Given the description of an element on the screen output the (x, y) to click on. 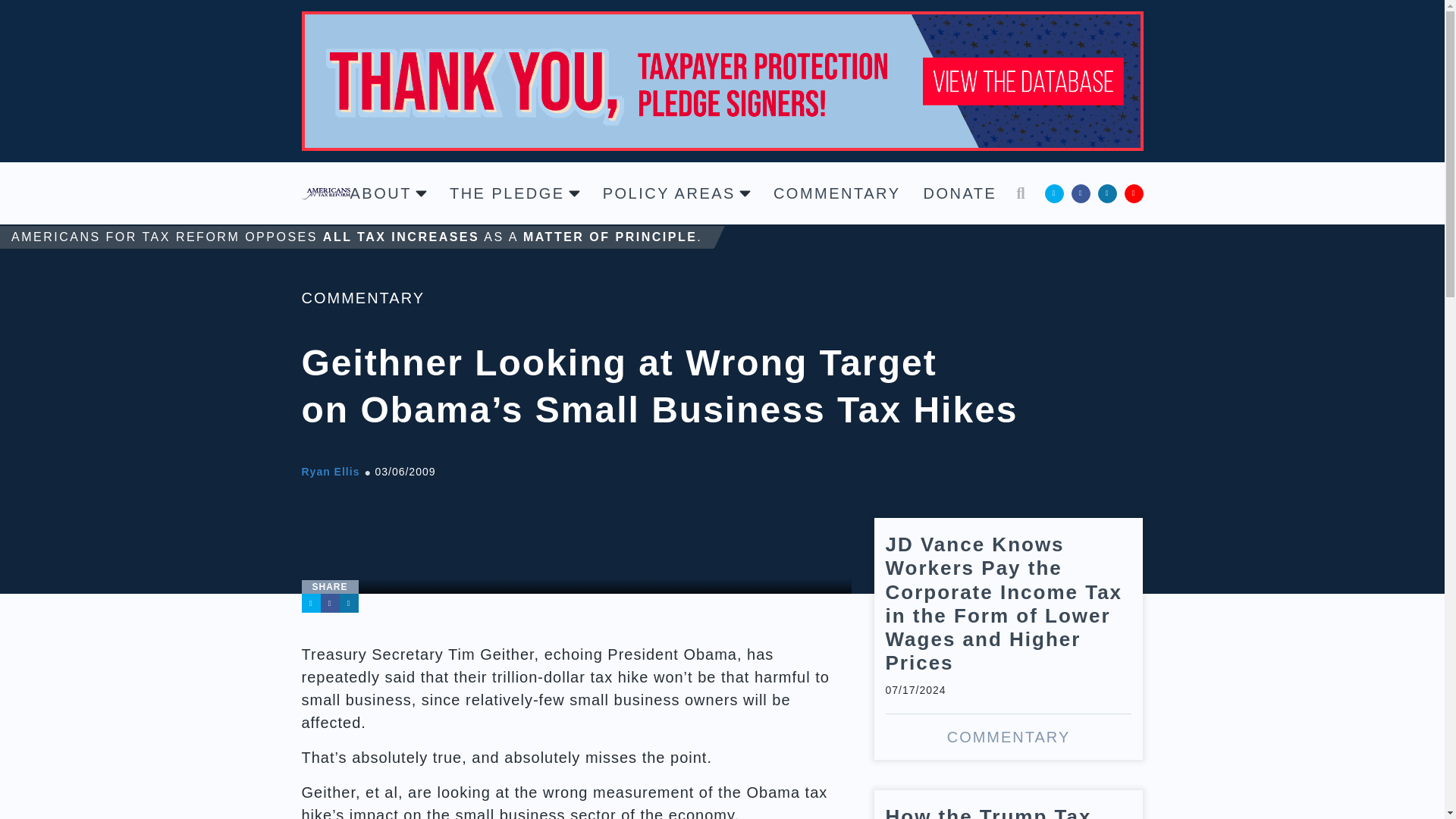
DONATE (960, 193)
POLICY AREAS (676, 193)
ABOUT (388, 193)
COMMENTARY (363, 297)
LinkedIn (1106, 193)
Facebook (329, 602)
YouTube (1133, 193)
THE PLEDGE (514, 193)
How the Trump Tax Cuts and Jobs Act is Helping Ohio (1007, 804)
LinkedIn (348, 602)
Thank You, Taxpayer Protection Pledge Signers (721, 79)
Twitter (310, 602)
COMMENTARY (837, 193)
Facebook (1079, 193)
